Given the description of an element on the screen output the (x, y) to click on. 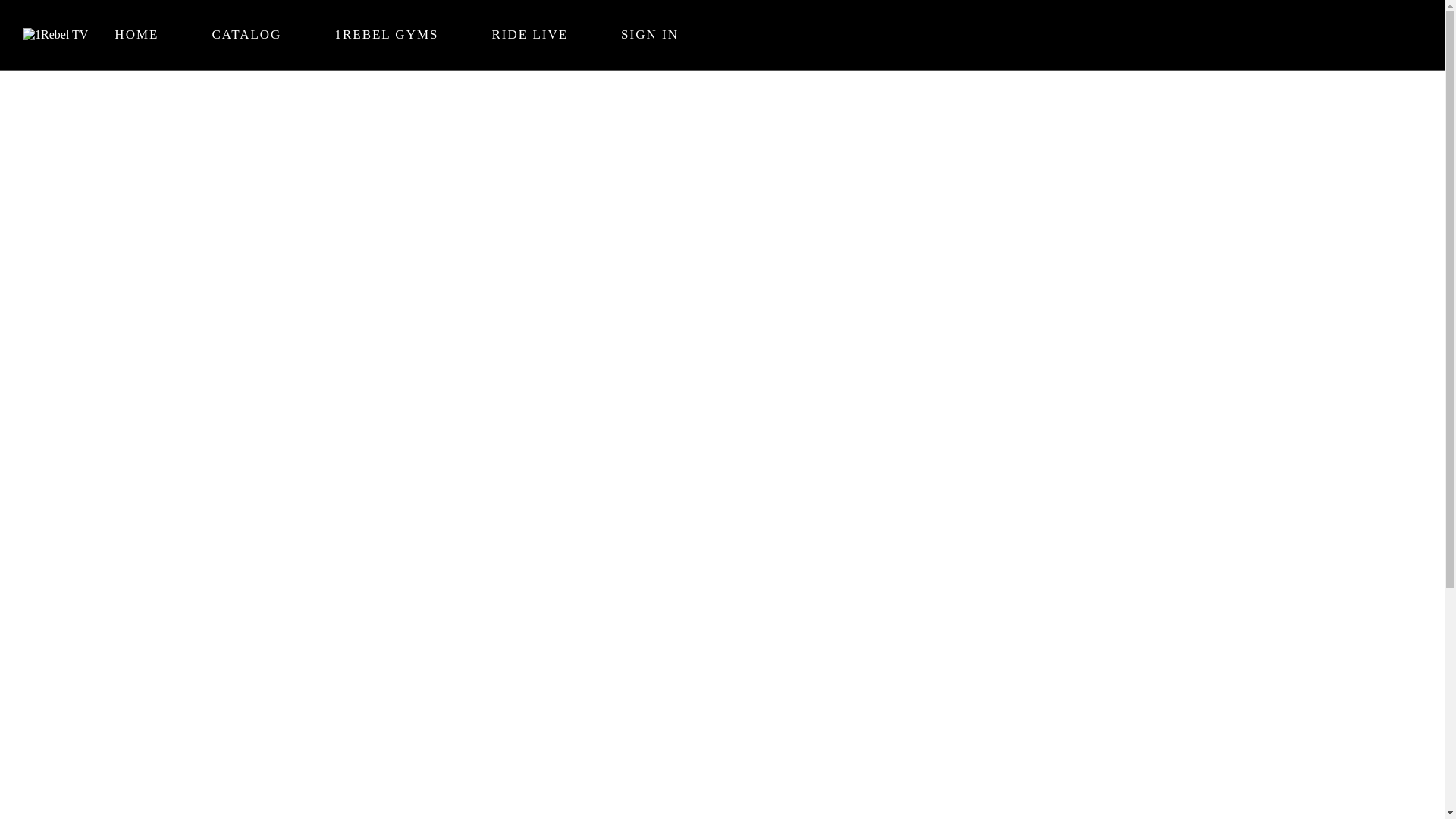
CATALOG Element type: text (246, 34)
1REBEL GYMS Element type: text (386, 34)
HOME Element type: text (136, 34)
SIGN IN Element type: text (649, 34)
RIDE LIVE Element type: text (529, 34)
